Given the description of an element on the screen output the (x, y) to click on. 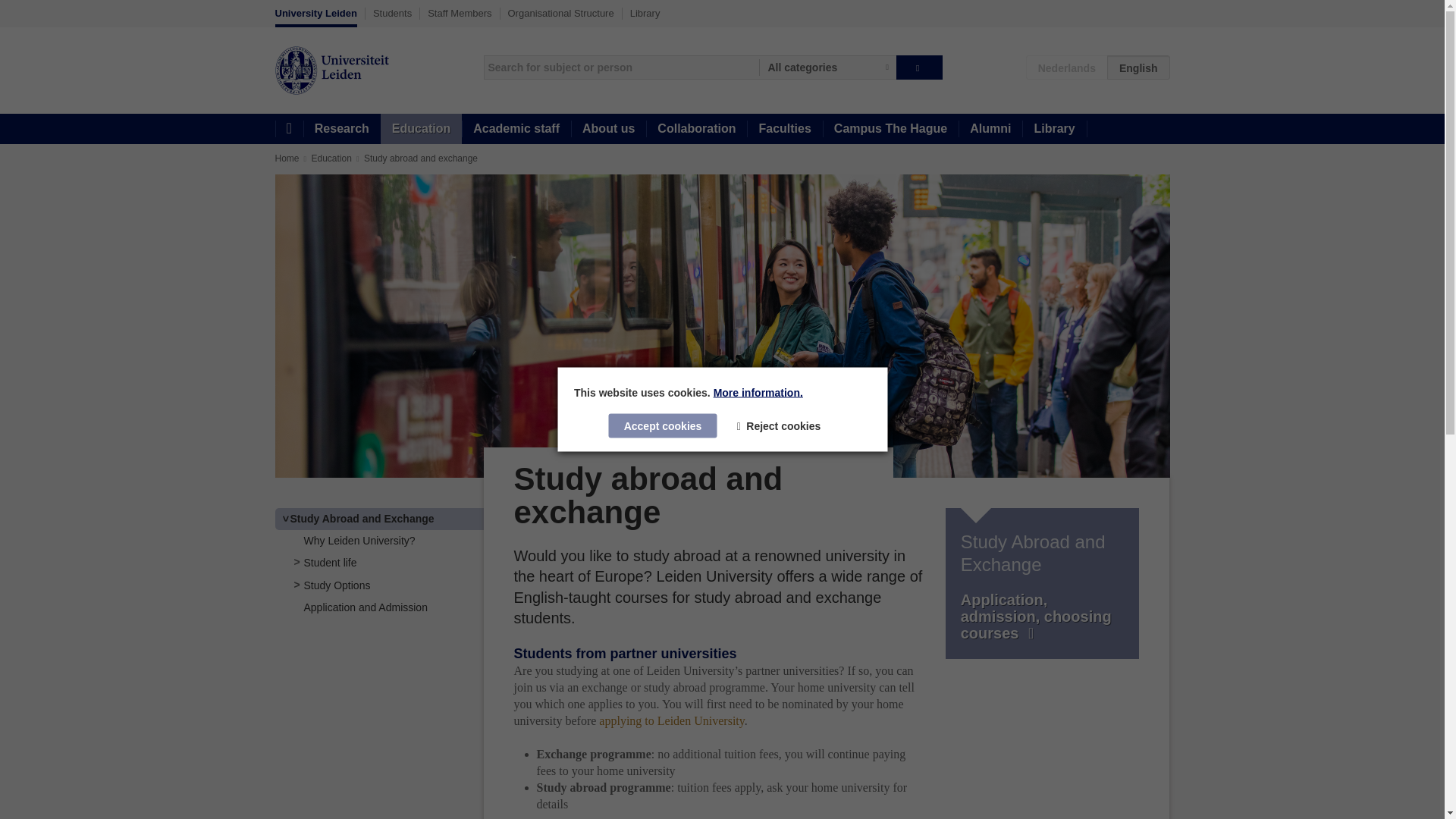
Research (341, 128)
Why Leiden University? (358, 540)
Staff Members (460, 13)
Library (645, 13)
University Leiden (315, 17)
Education (331, 158)
Collaboration (696, 128)
Students (392, 13)
Study Abroad and Exchange (361, 518)
Faculties (784, 128)
Academic staff (515, 128)
Organisational Structure (561, 13)
Student life (329, 562)
Why Leiden University? (358, 540)
Search (919, 67)
